Given the description of an element on the screen output the (x, y) to click on. 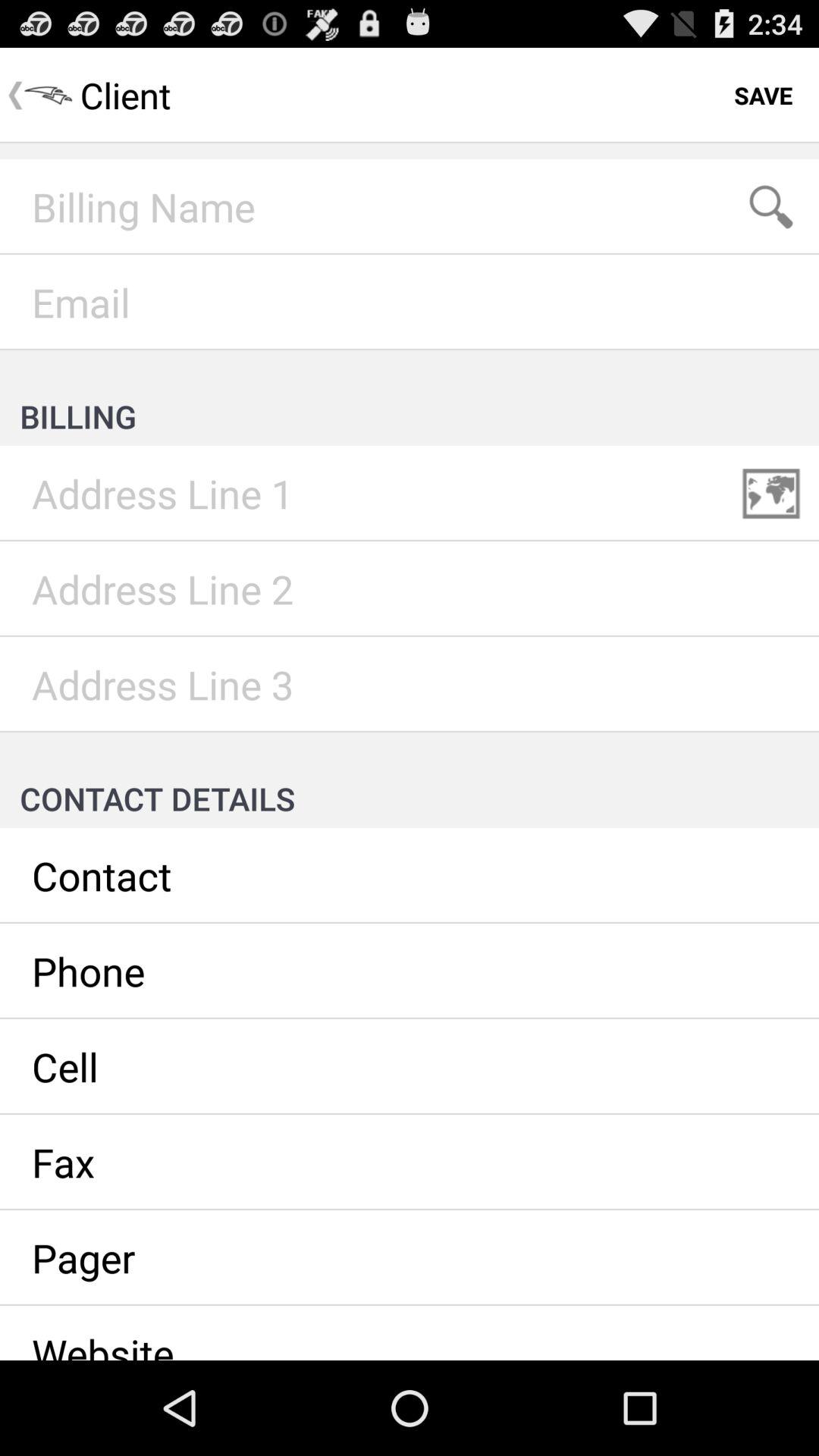
website button (409, 1332)
